Given the description of an element on the screen output the (x, y) to click on. 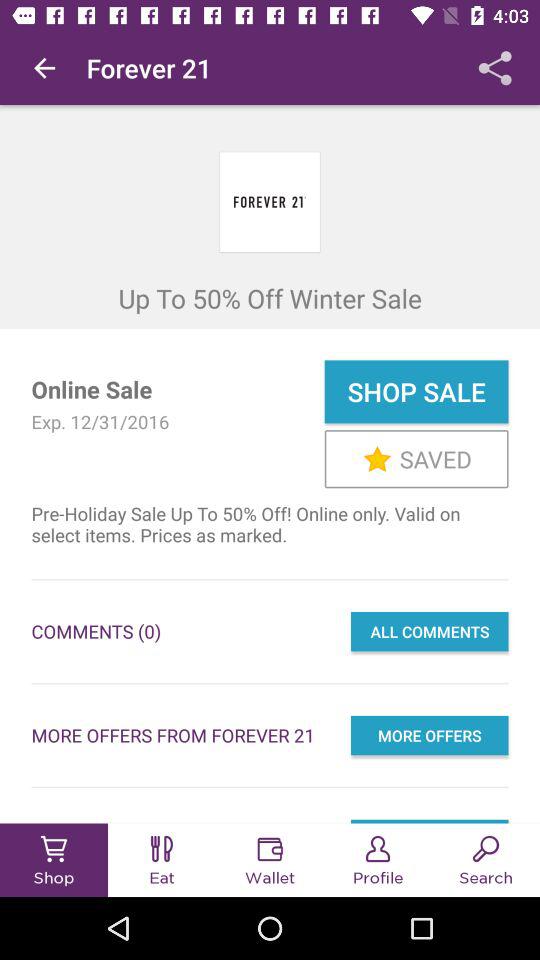
choose the item below the up to 50 icon (416, 391)
